Given the description of an element on the screen output the (x, y) to click on. 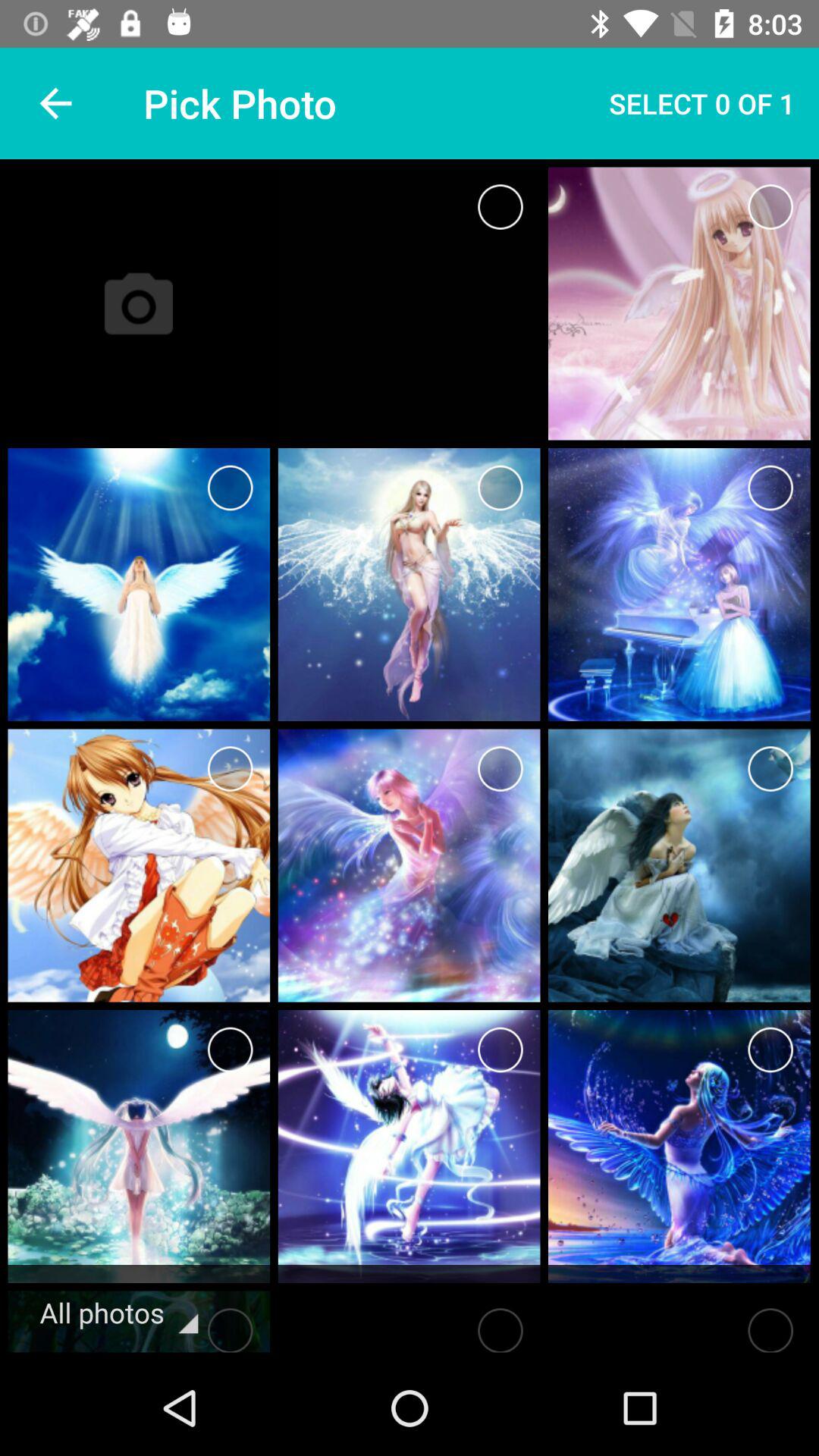
mark all photos (230, 1325)
